Given the description of an element on the screen output the (x, y) to click on. 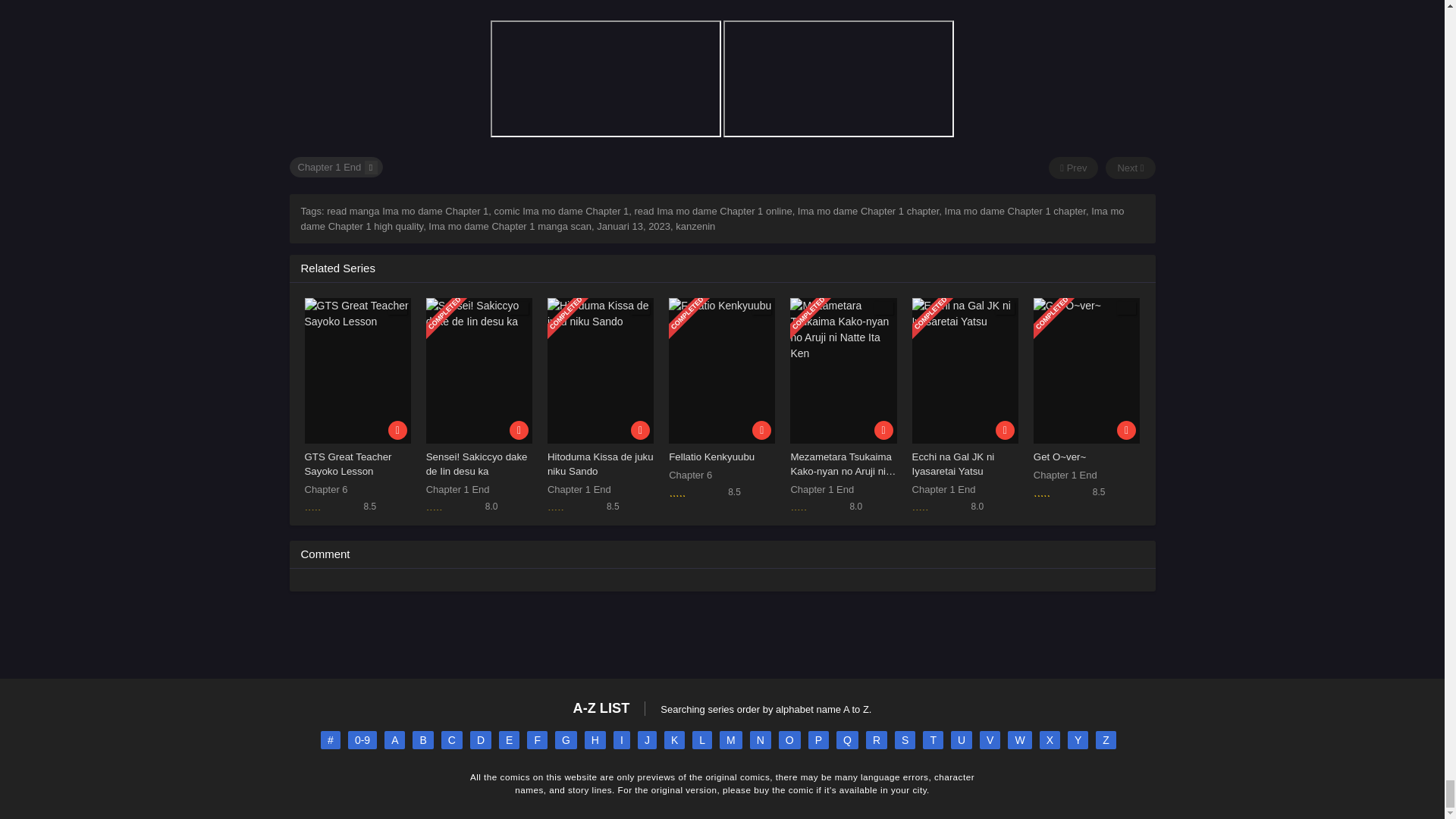
B (422, 740)
D (481, 740)
H (595, 740)
C (452, 740)
Prev (1072, 168)
F (537, 740)
Next (1129, 168)
0-9 (362, 740)
G (565, 740)
I (621, 740)
